Given the description of an element on the screen output the (x, y) to click on. 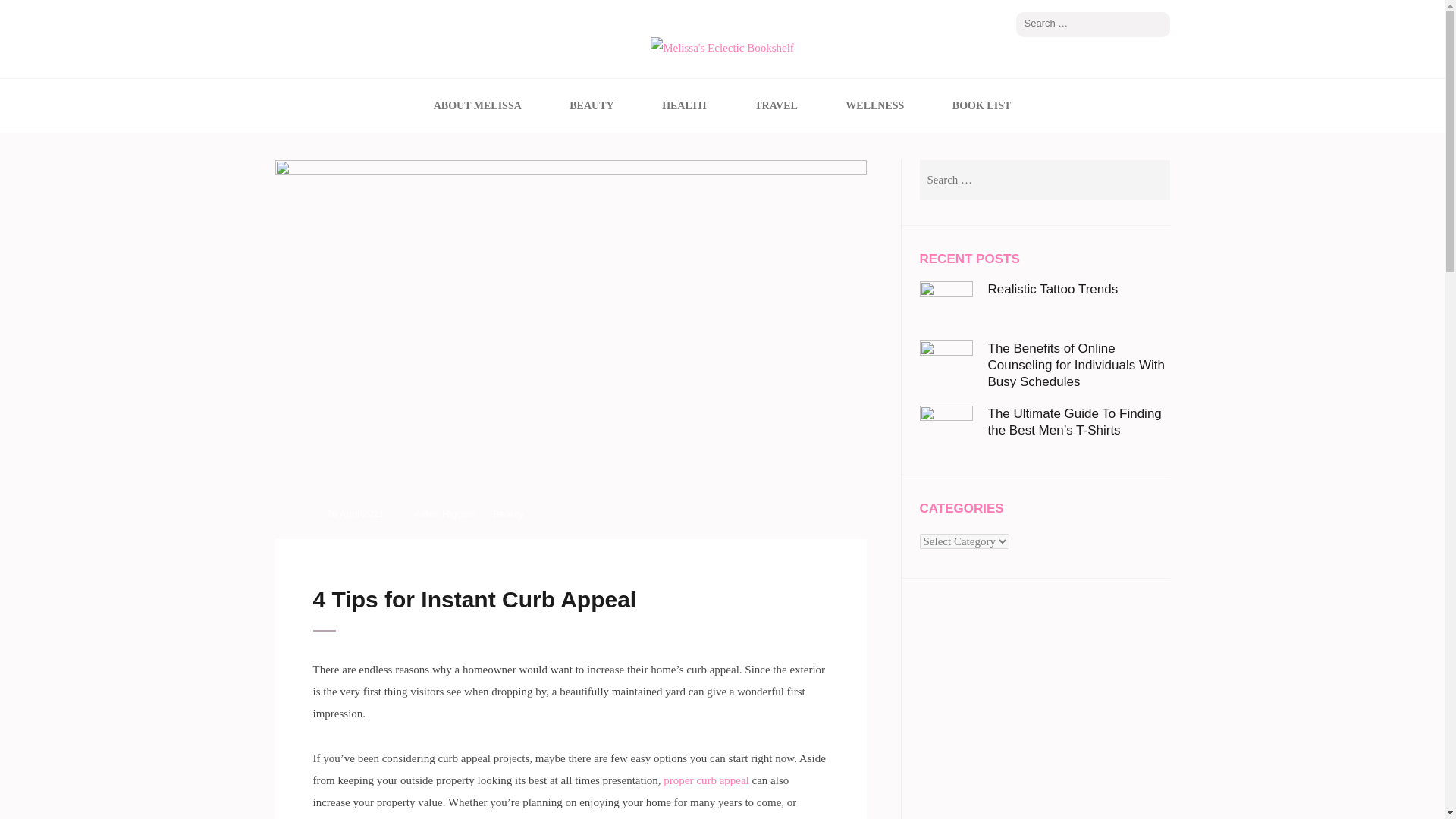
Search (1158, 24)
BOOK LIST (981, 104)
ABOUT MELISSA (477, 104)
Search (1150, 180)
Search (1158, 24)
Realistic Tattoo Trends (1052, 288)
Melissa's Eclectic Bookshelf (500, 78)
Search (1150, 180)
proper curb appeal (705, 779)
